Given the description of an element on the screen output the (x, y) to click on. 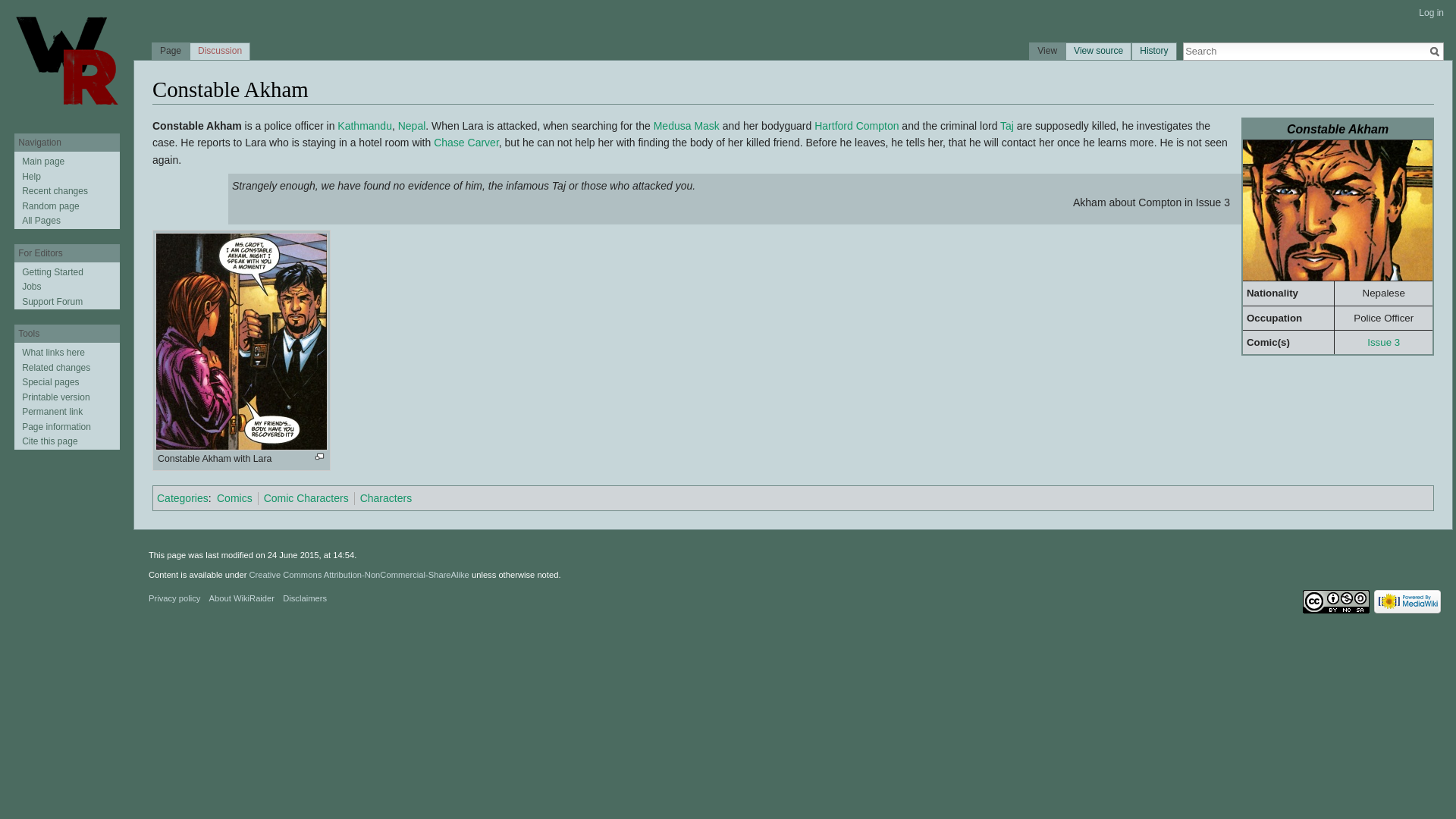
Taj (1006, 125)
All Pages (41, 220)
Kathmandu (364, 125)
Category:Comic Characters (306, 498)
Recent changes (54, 190)
Related changes (55, 367)
Special pages (49, 381)
Special:Categories (182, 498)
Hartford Compton (855, 125)
Categories (182, 498)
View (1046, 52)
Page (170, 52)
Category:Characters (385, 498)
Comics (233, 498)
Chase Carver (466, 142)
